Given the description of an element on the screen output the (x, y) to click on. 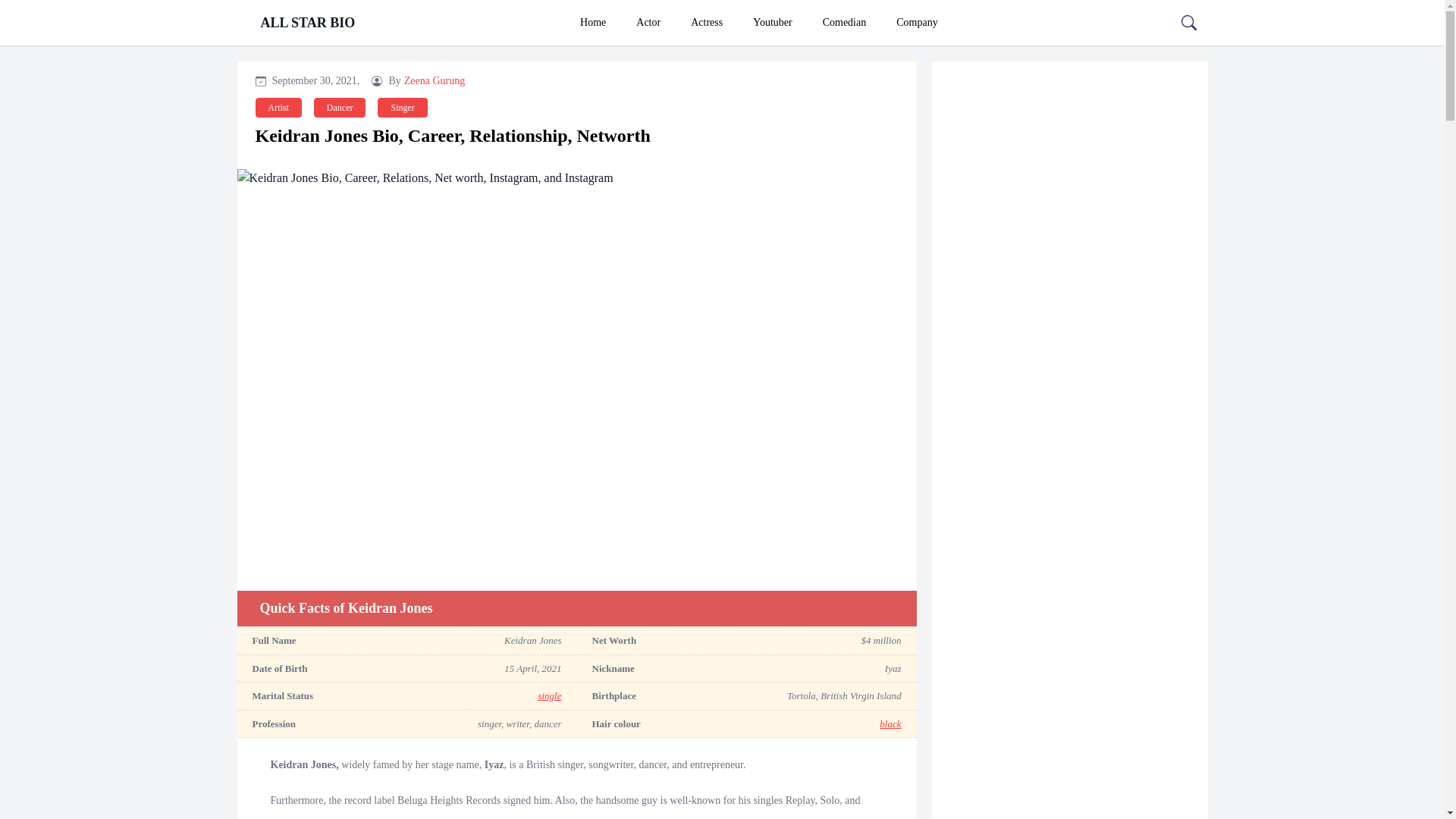
Actor (648, 22)
ALL STAR BIO (307, 22)
Youtuber (772, 22)
Singer (401, 107)
Comedian (845, 22)
Artist (277, 107)
black (890, 723)
Company (916, 22)
Dancer (340, 107)
Home (592, 22)
